Given the description of an element on the screen output the (x, y) to click on. 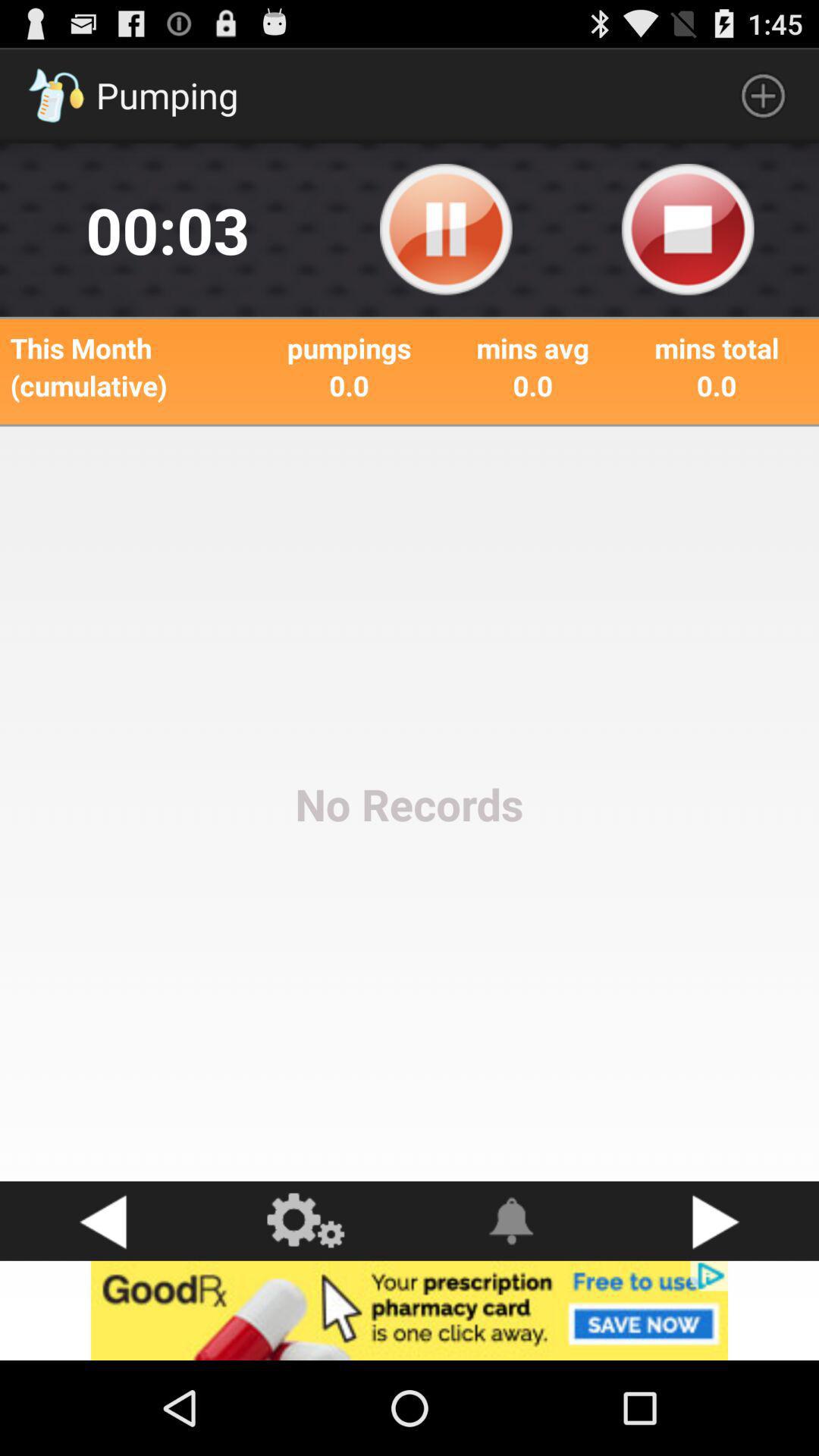
see more options (306, 1220)
